Given the description of an element on the screen output the (x, y) to click on. 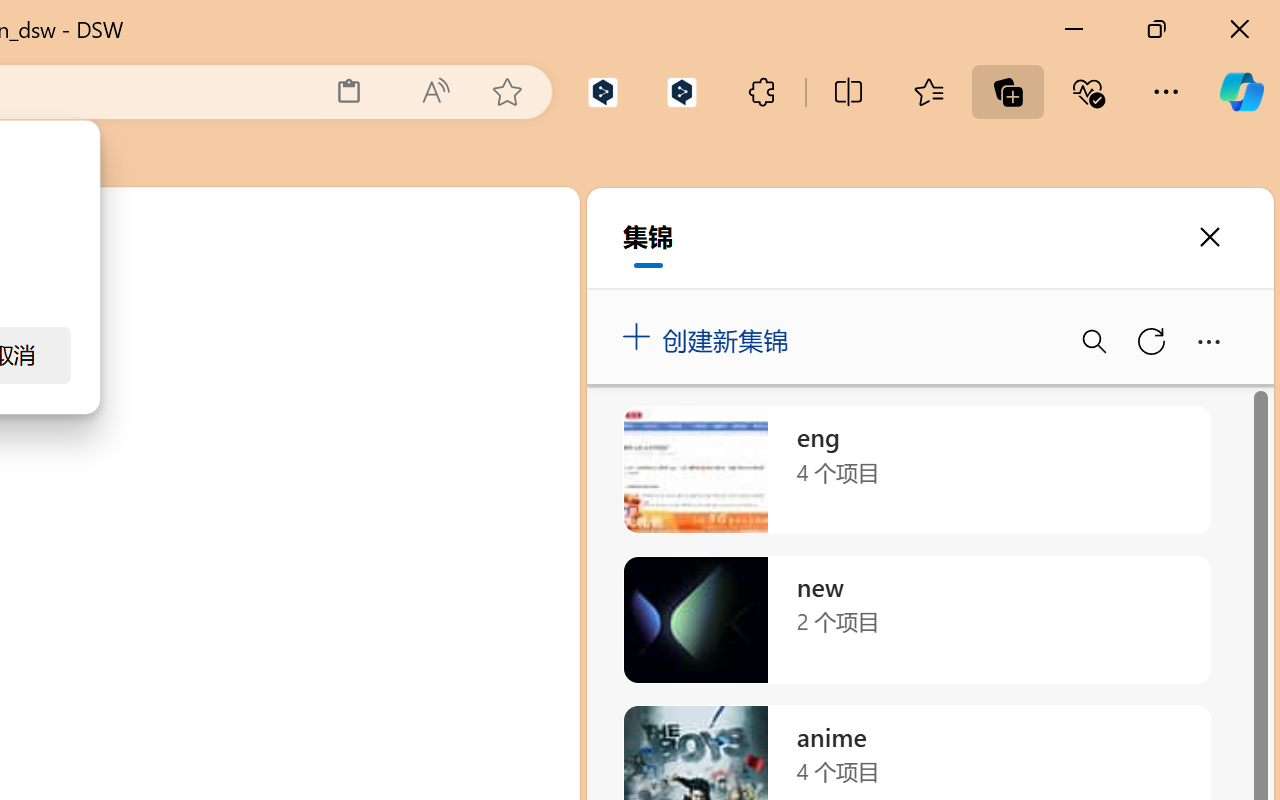
icon (1131, 224)
Customize Layout... (1248, 294)
Toggle Panel (Ctrl+J) (1155, 294)
Copilot (Ctrl+Shift+.) (1241, 91)
Toggle Secondary Side Bar (Ctrl+Alt+B) (1201, 294)
Class: next-menu next-hoz widgets--iconMenu--BFkiHRM (1131, 225)
